Given the description of an element on the screen output the (x, y) to click on. 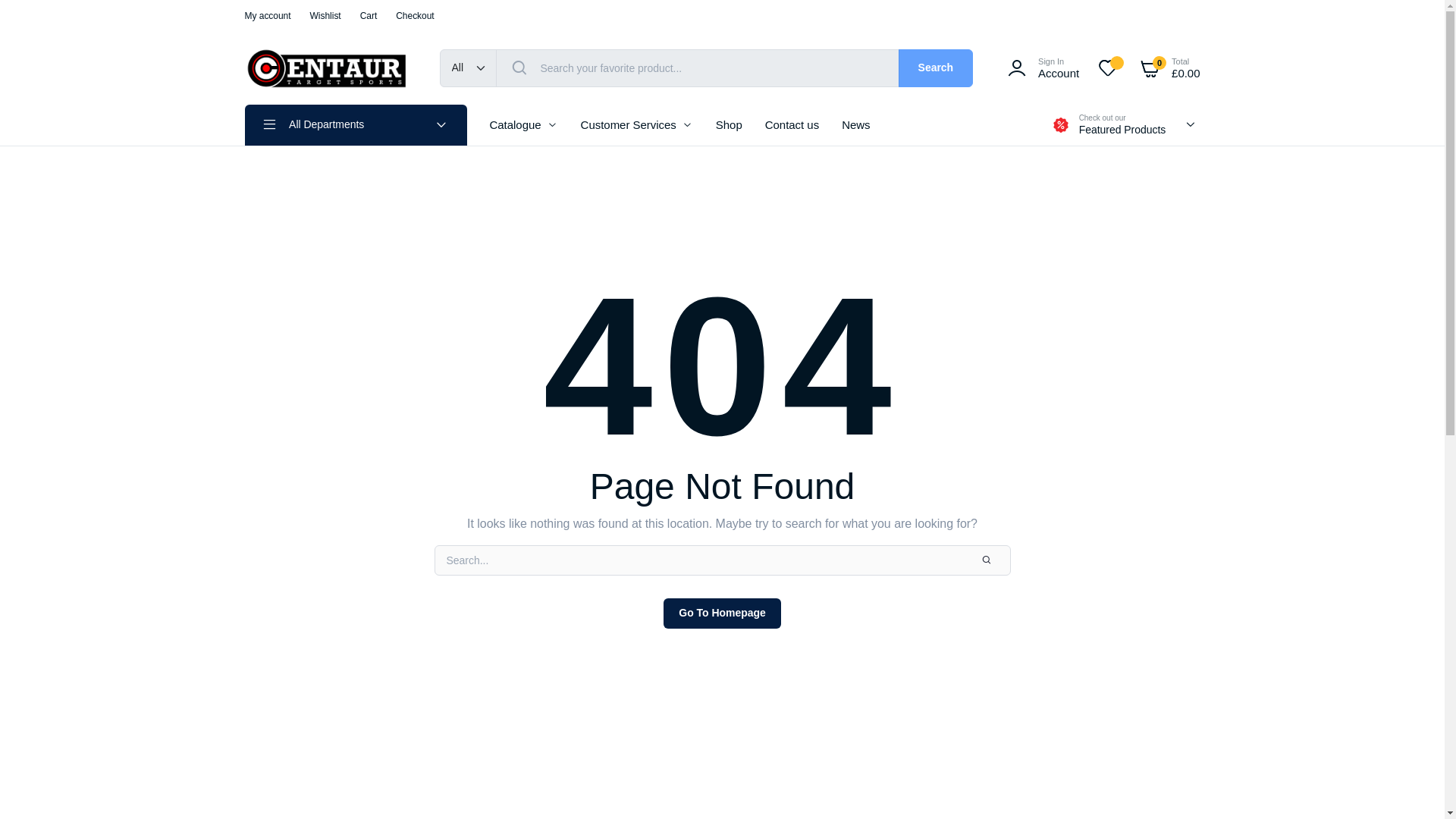
Centaur Target Sports (326, 67)
